Given the description of an element on the screen output the (x, y) to click on. 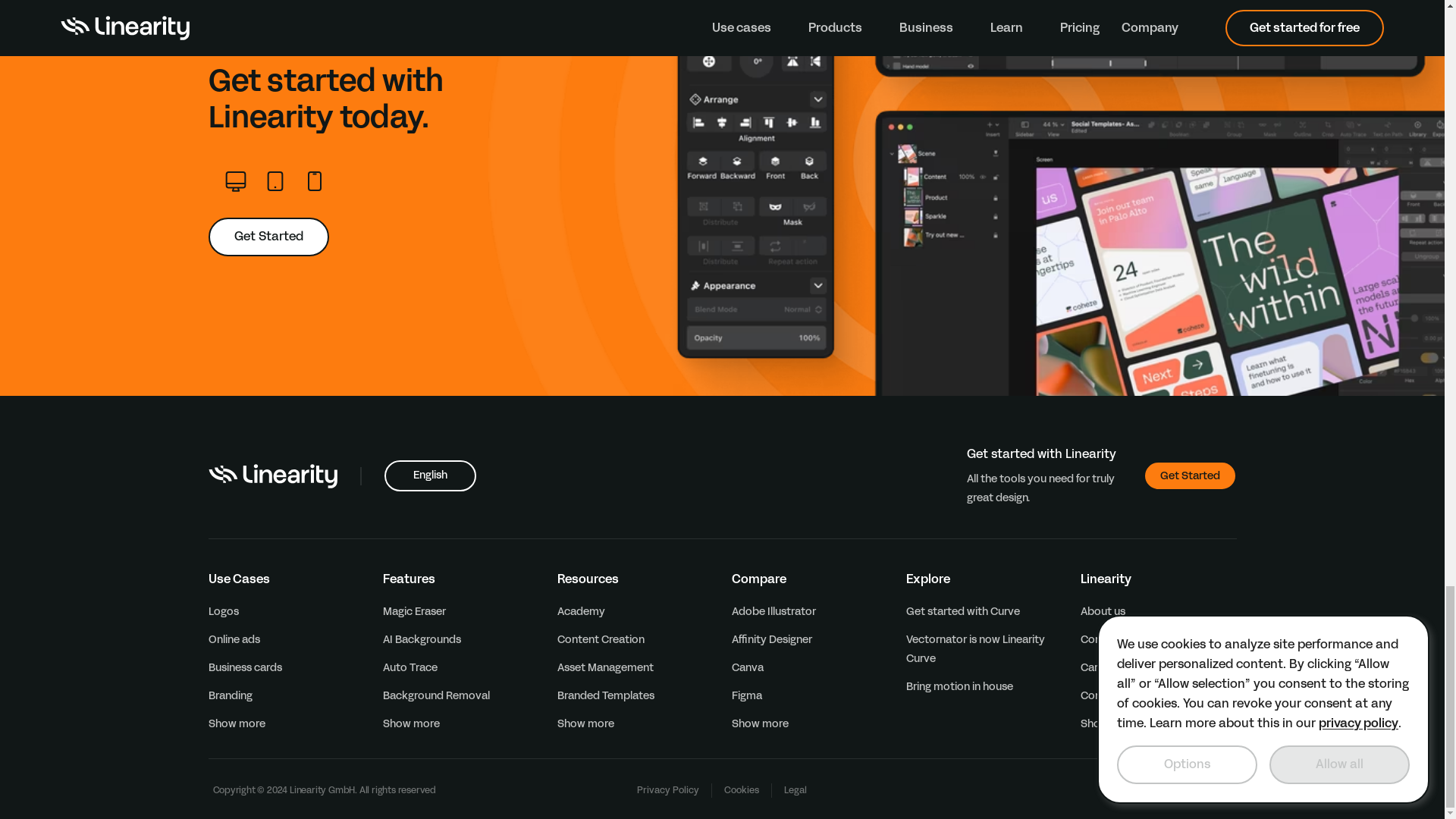
English (430, 475)
English (430, 475)
Logos (223, 611)
Online ads (233, 639)
Get Started (1189, 475)
Get Started (268, 236)
